Given the description of an element on the screen output the (x, y) to click on. 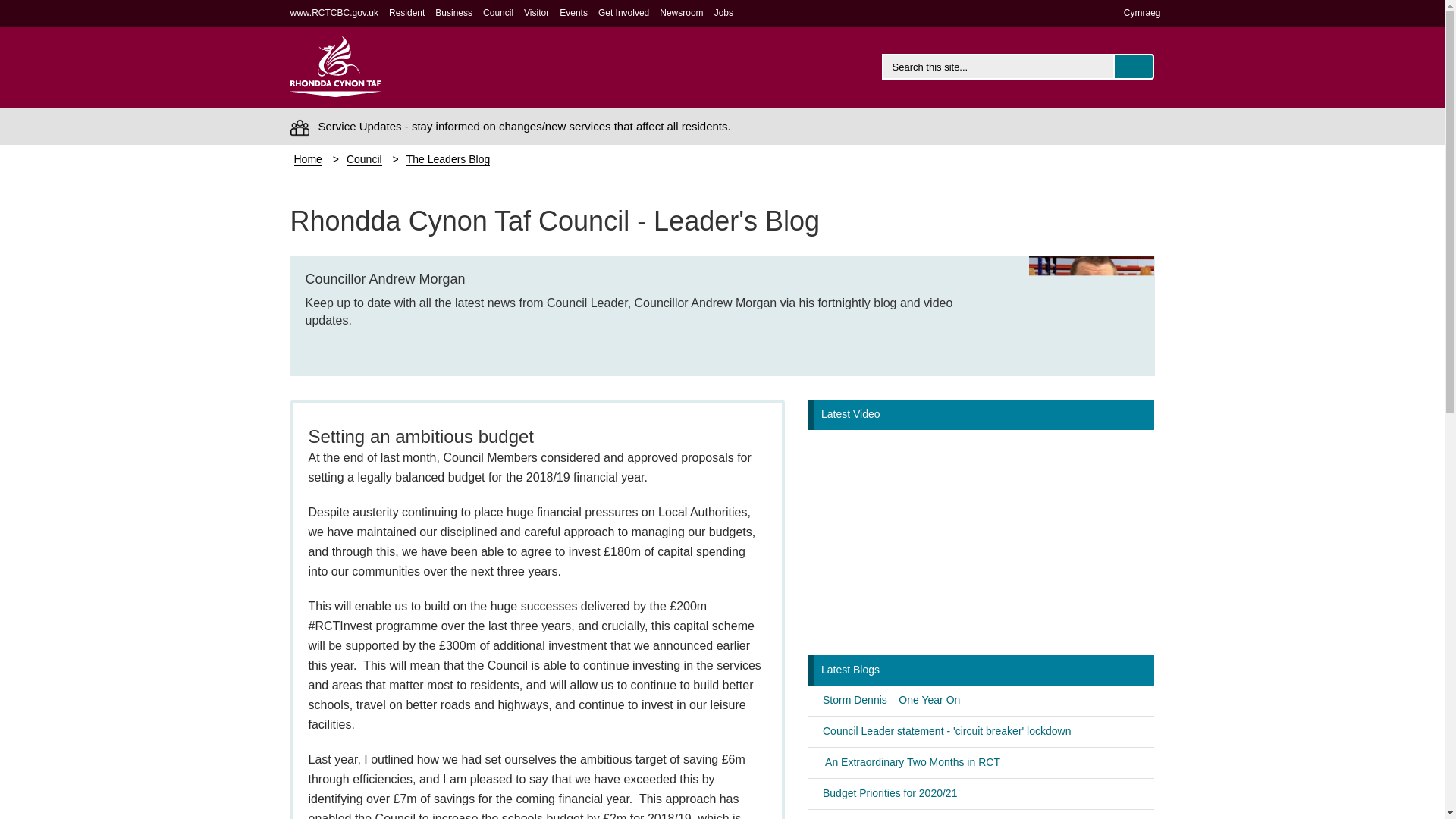
Cymraeg (1142, 12)
Service Updates (359, 126)
Visitor (536, 12)
Go (1133, 66)
Business (453, 12)
An Extraordinary Two Months in RCT (911, 761)
Newsroom (680, 12)
Jobs (723, 12)
Go (1133, 66)
